Given the description of an element on the screen output the (x, y) to click on. 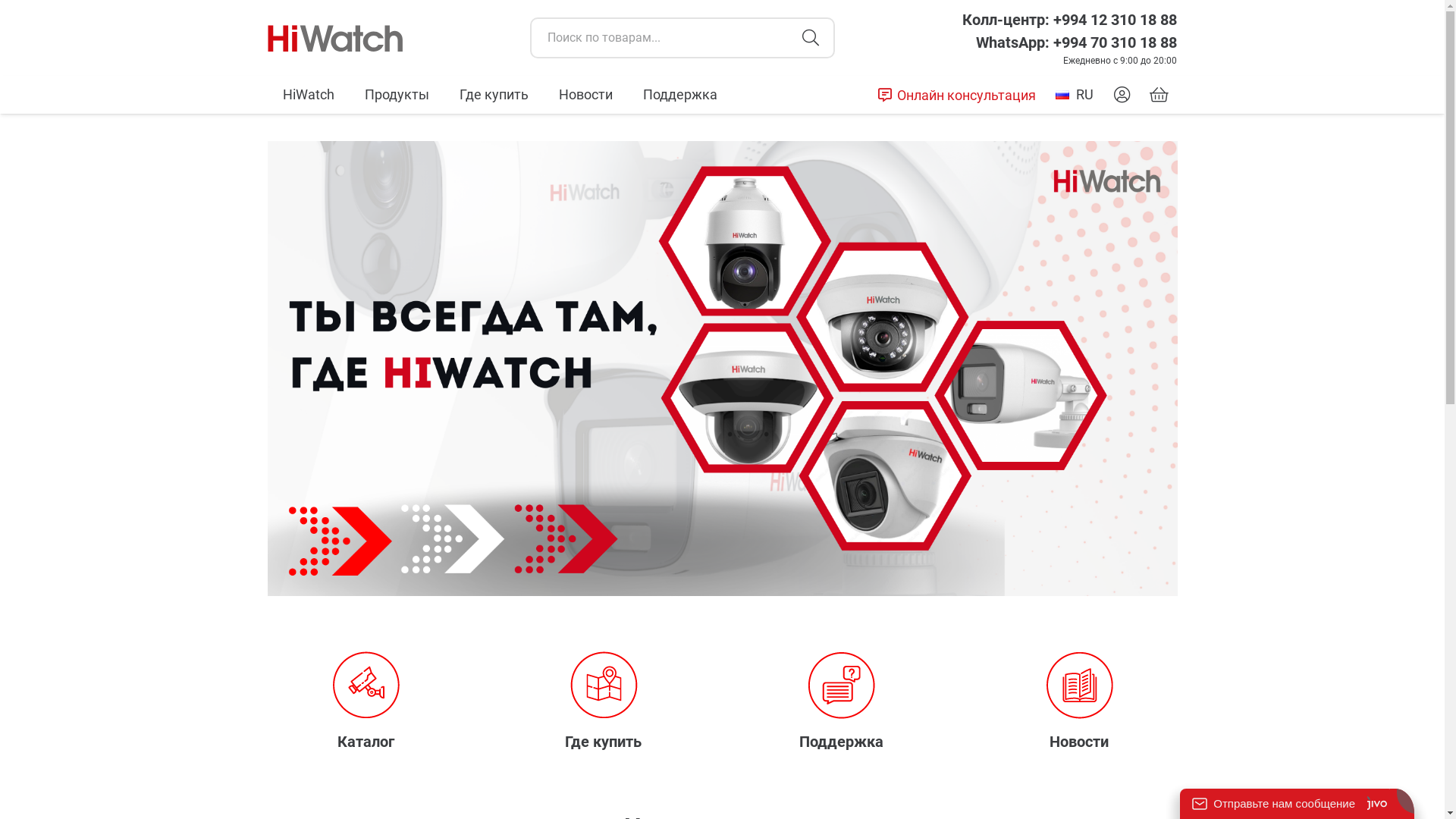
HiWatch Element type: text (307, 94)
WhatsApp: +994 70 310 18 88 Element type: text (1075, 42)
0 Element type: text (1158, 94)
RU Element type: text (1074, 94)
